Given the description of an element on the screen output the (x, y) to click on. 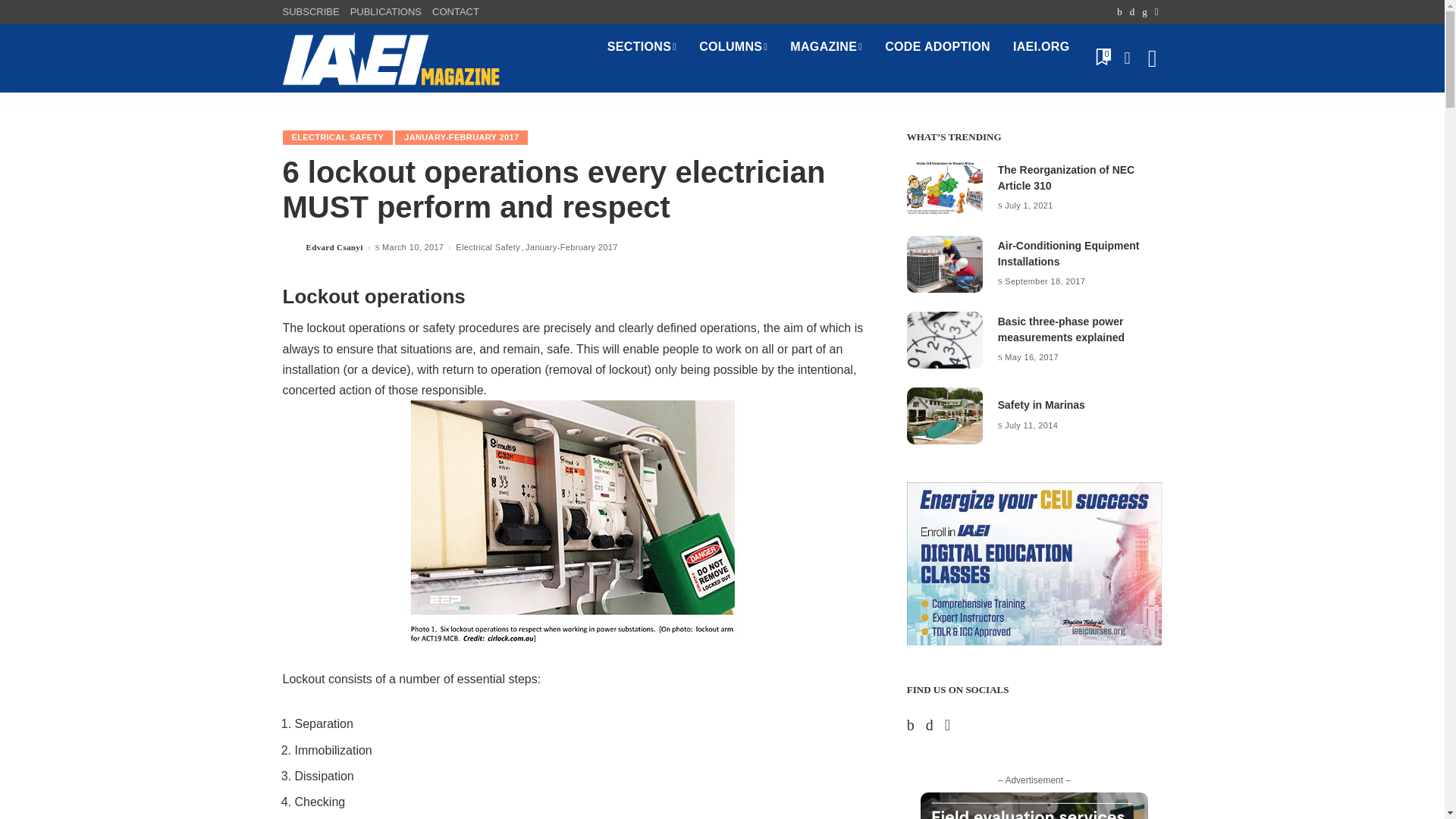
2017-03-10T17:19:56-06:00 (412, 247)
CONTACT (455, 11)
SUBSCRIBE (312, 11)
PUBLICATIONS (385, 11)
IAEI Magazine (391, 58)
